Given the description of an element on the screen output the (x, y) to click on. 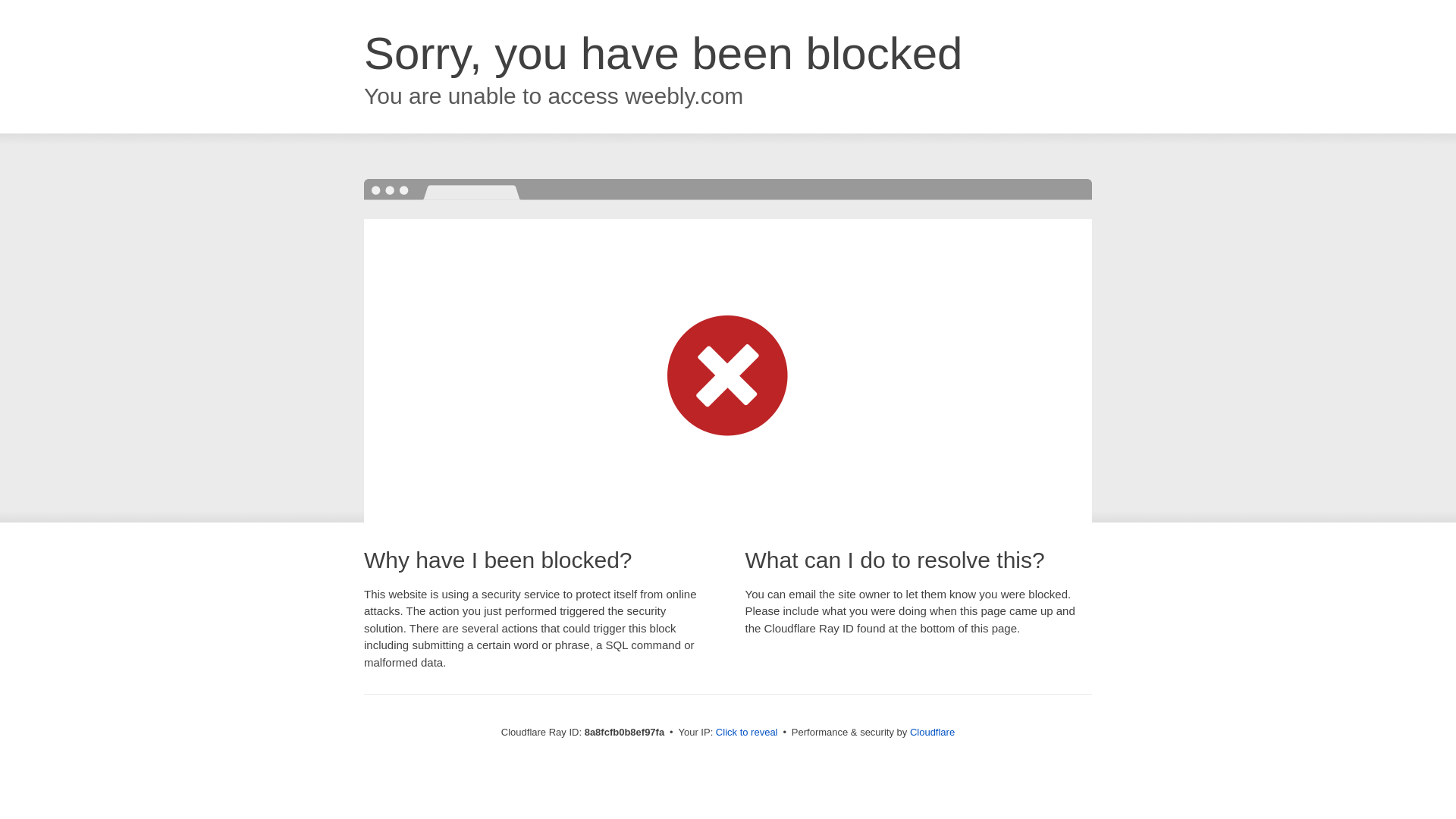
Cloudflare (932, 731)
Click to reveal (746, 732)
